Given the description of an element on the screen output the (x, y) to click on. 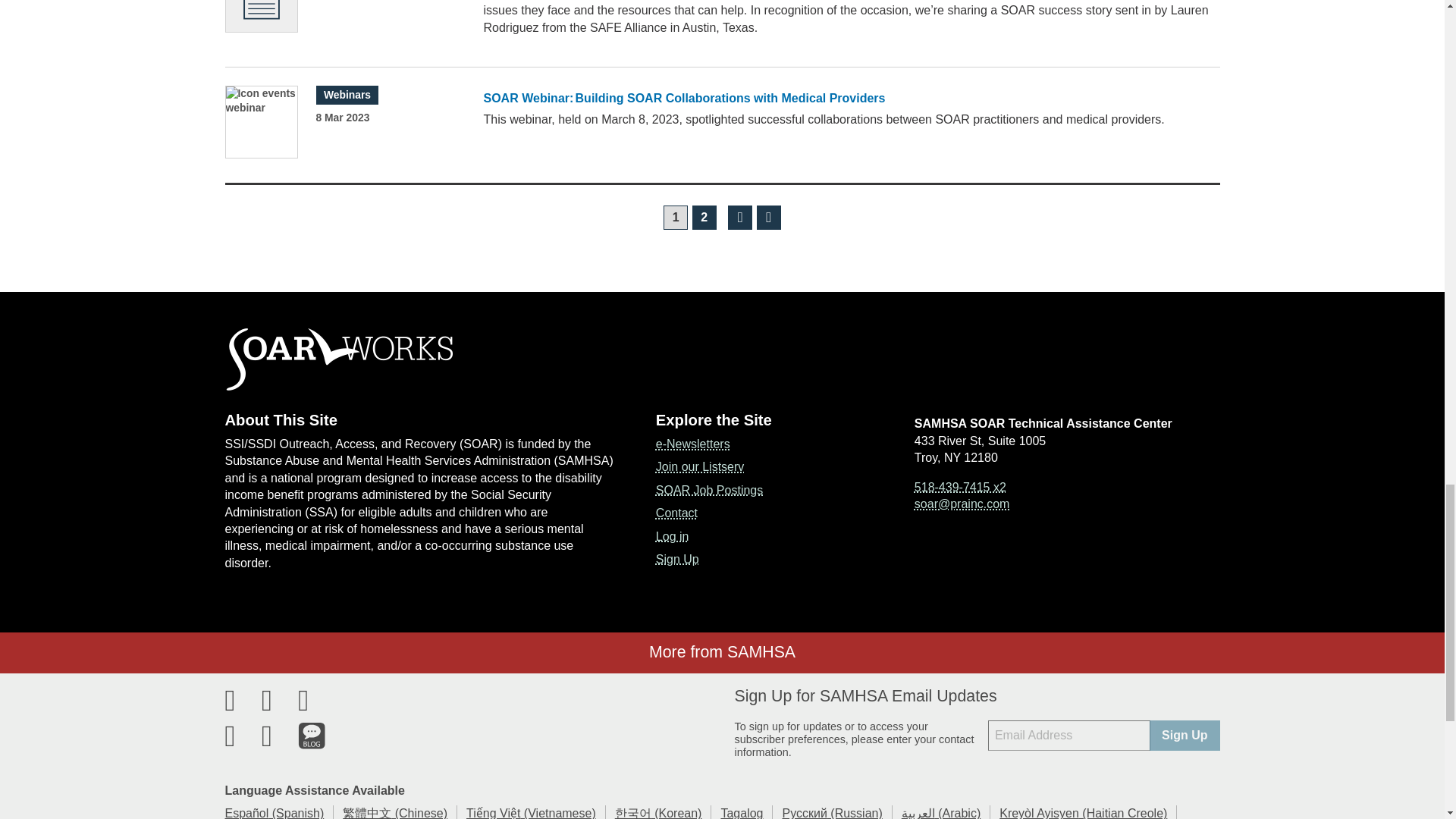
Icon events webinar (261, 122)
Sign Up (1185, 735)
Icon type article (261, 15)
Go to last page (768, 217)
Go to next page (740, 217)
Go to page 2 (704, 217)
Current page (675, 217)
Home (722, 359)
